Given the description of an element on the screen output the (x, y) to click on. 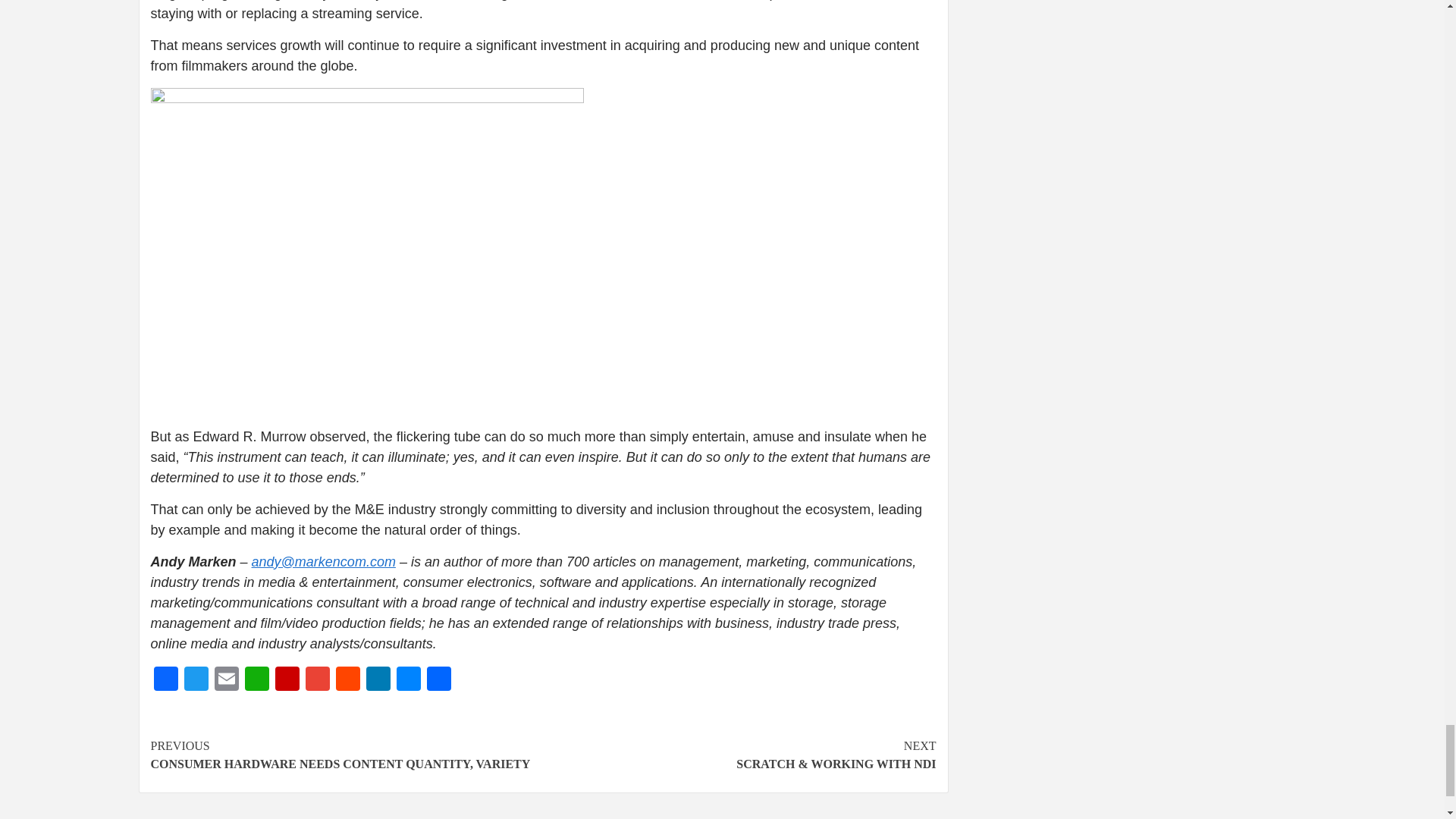
Twitter (195, 680)
Email (226, 680)
WhatsApp (255, 680)
Twitter (195, 680)
Facebook (164, 680)
Email (226, 680)
Facebook (164, 680)
